Given the description of an element on the screen output the (x, y) to click on. 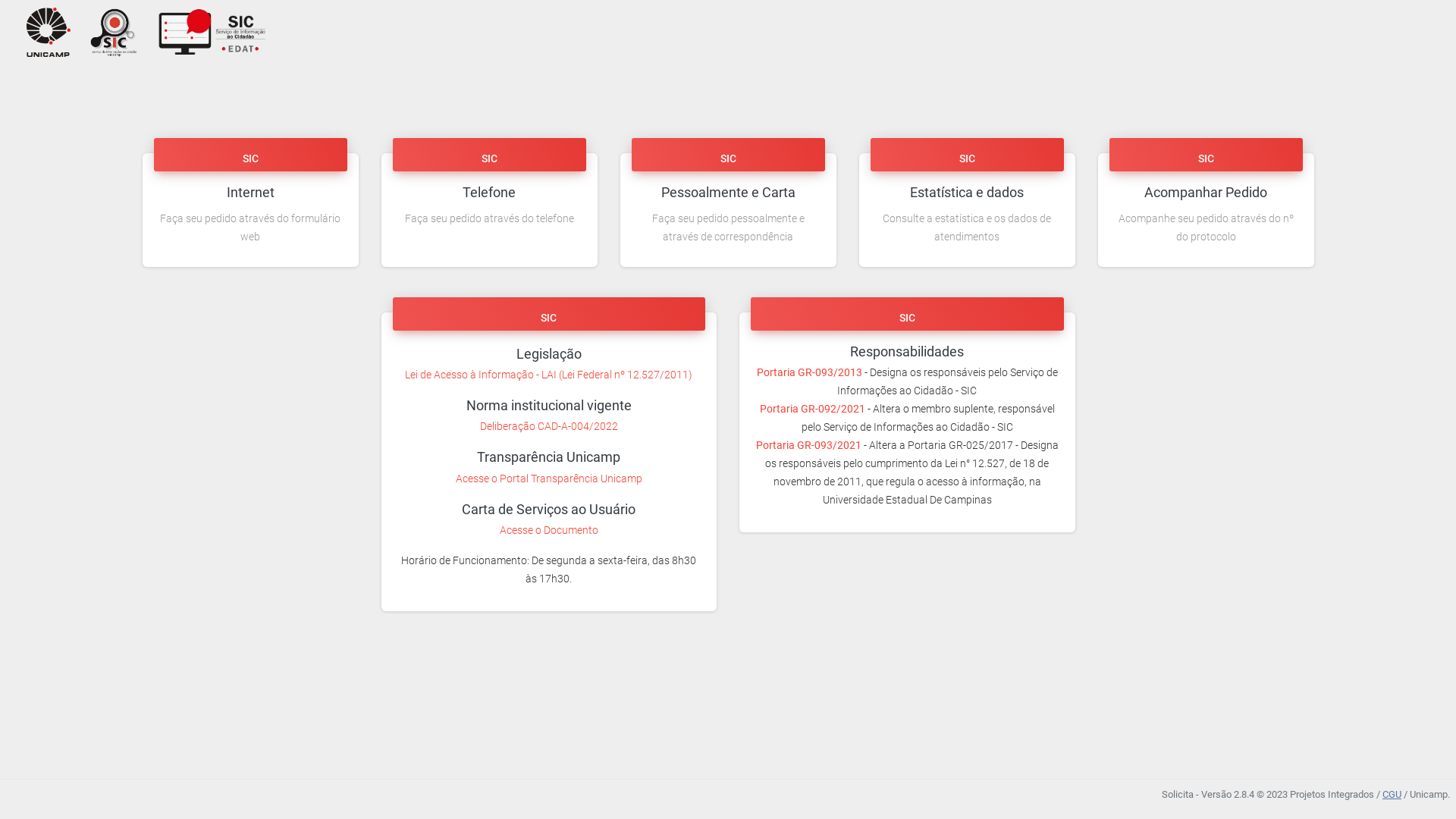
Portaria GR-093/2013 Element type: text (809, 372)
Portaria GR-092/2021 Element type: text (812, 408)
CGU Element type: text (1391, 794)
Acesse o Documento Element type: text (548, 530)
Portaria GR-093/2021 Element type: text (808, 445)
